Given the description of an element on the screen output the (x, y) to click on. 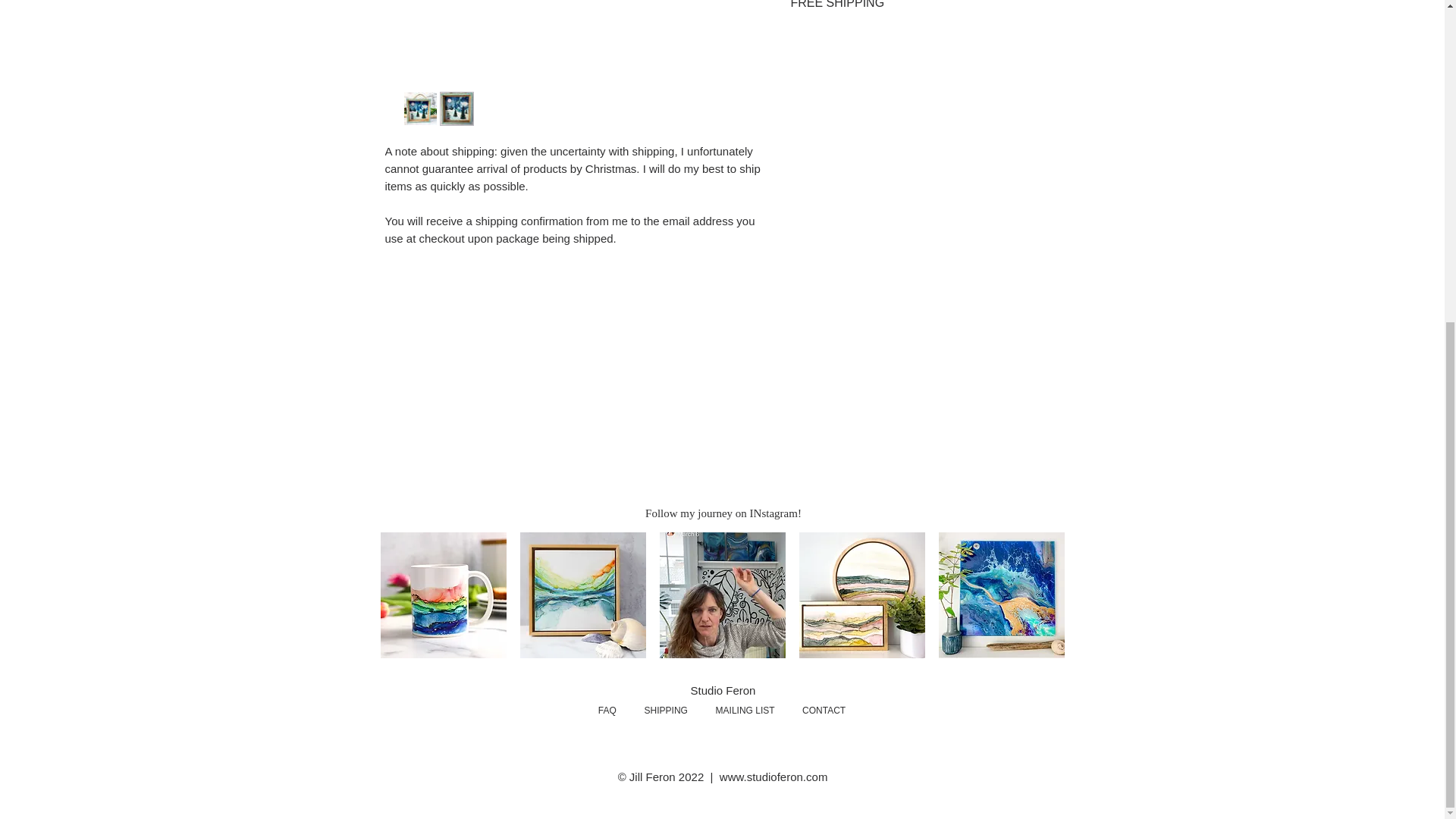
SHIPPING (666, 710)
FAQ (606, 710)
www.studioferon.com (773, 776)
MAILING LIST (745, 710)
           CONTACT (809, 710)
